Given the description of an element on the screen output the (x, y) to click on. 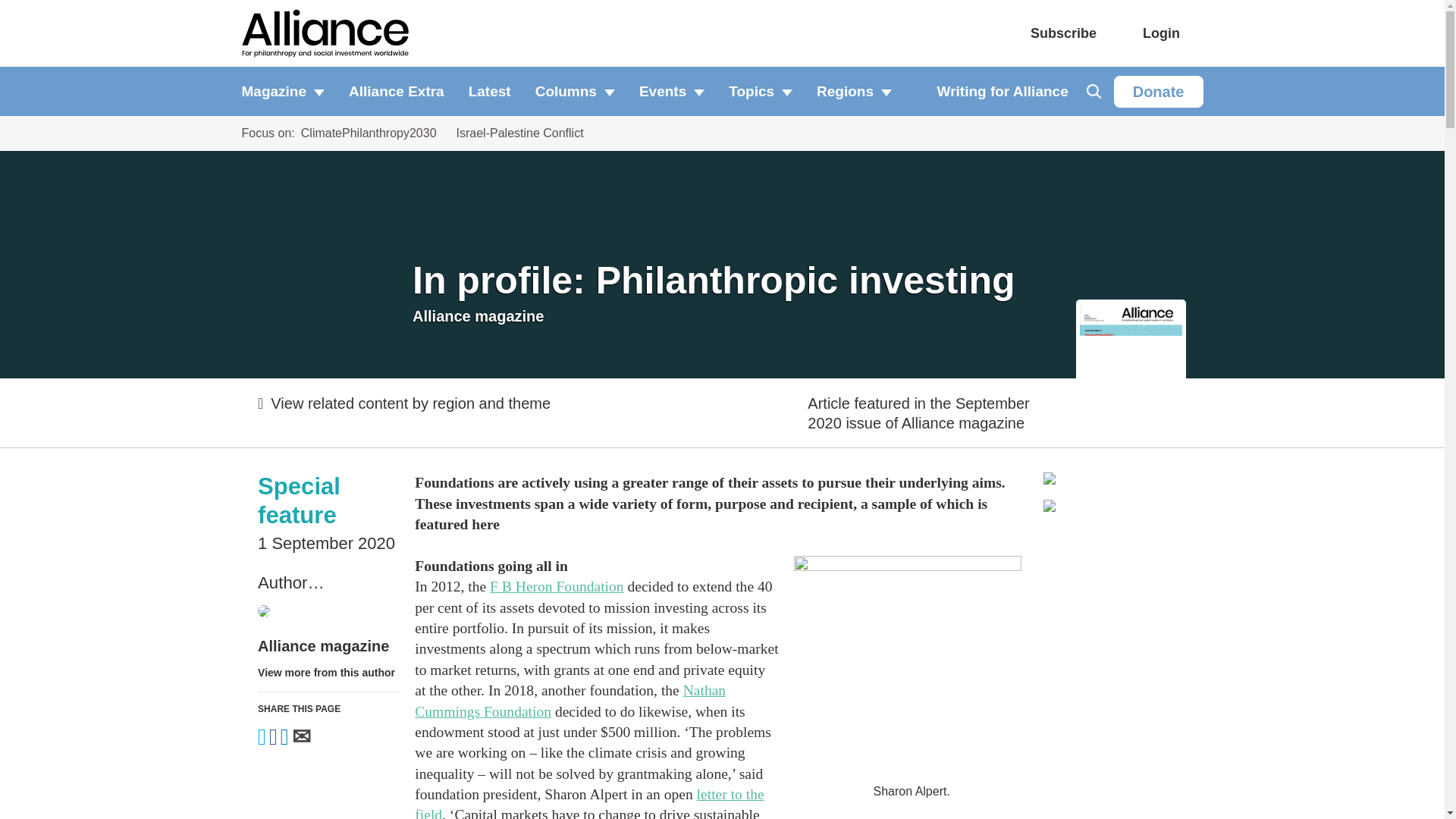
Columns (574, 91)
Login (1160, 33)
Magazine (288, 91)
Alliance Extra (396, 91)
Donate (1158, 91)
Topics (760, 91)
Latest (489, 91)
Subscribe (1063, 33)
Events (671, 91)
